Given the description of an element on the screen output the (x, y) to click on. 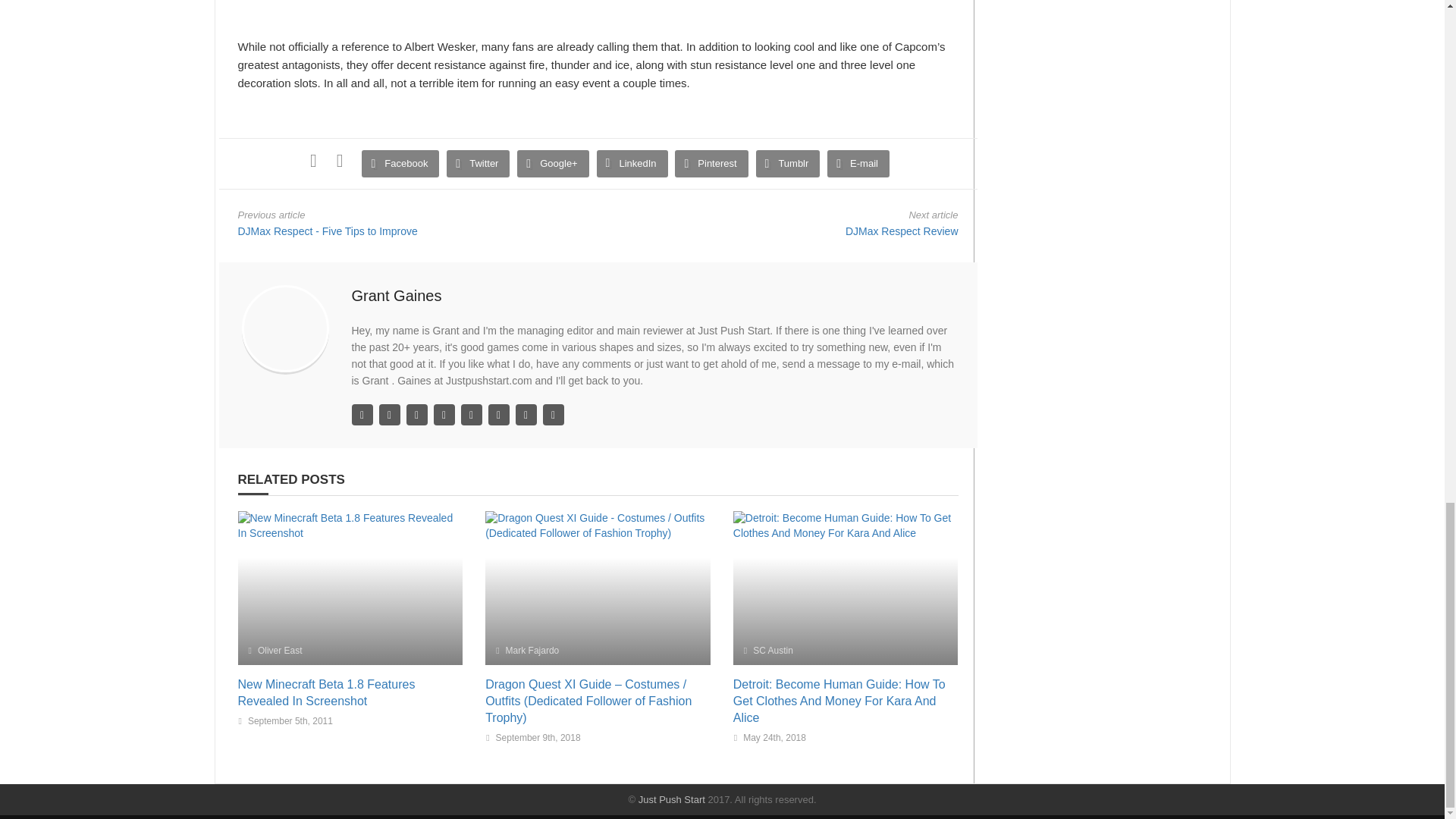
Posts by Grant Gaines (397, 295)
DJMax Respect Review (901, 231)
DJMax Respect - Five Tips to Improve (327, 231)
